Given the description of an element on the screen output the (x, y) to click on. 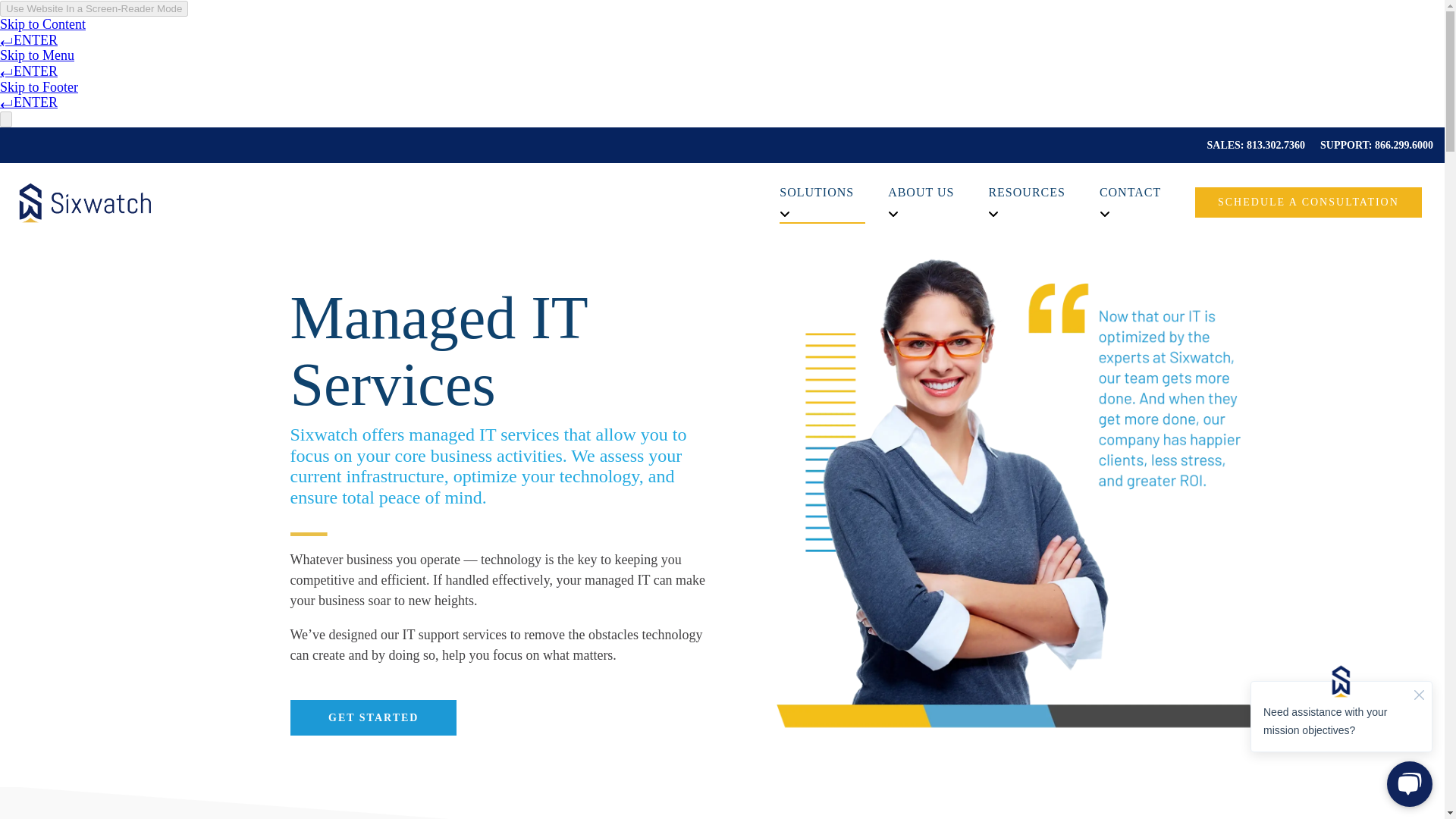
ABOUT US (926, 192)
SOLUTIONS (821, 192)
SUPPORT: 866.299.6000 (1368, 144)
Schedule a Consultation (1308, 202)
Get Started (372, 716)
SALES: 813.302.7360 (1249, 144)
sixwatch-menu (81, 201)
